Given the description of an element on the screen output the (x, y) to click on. 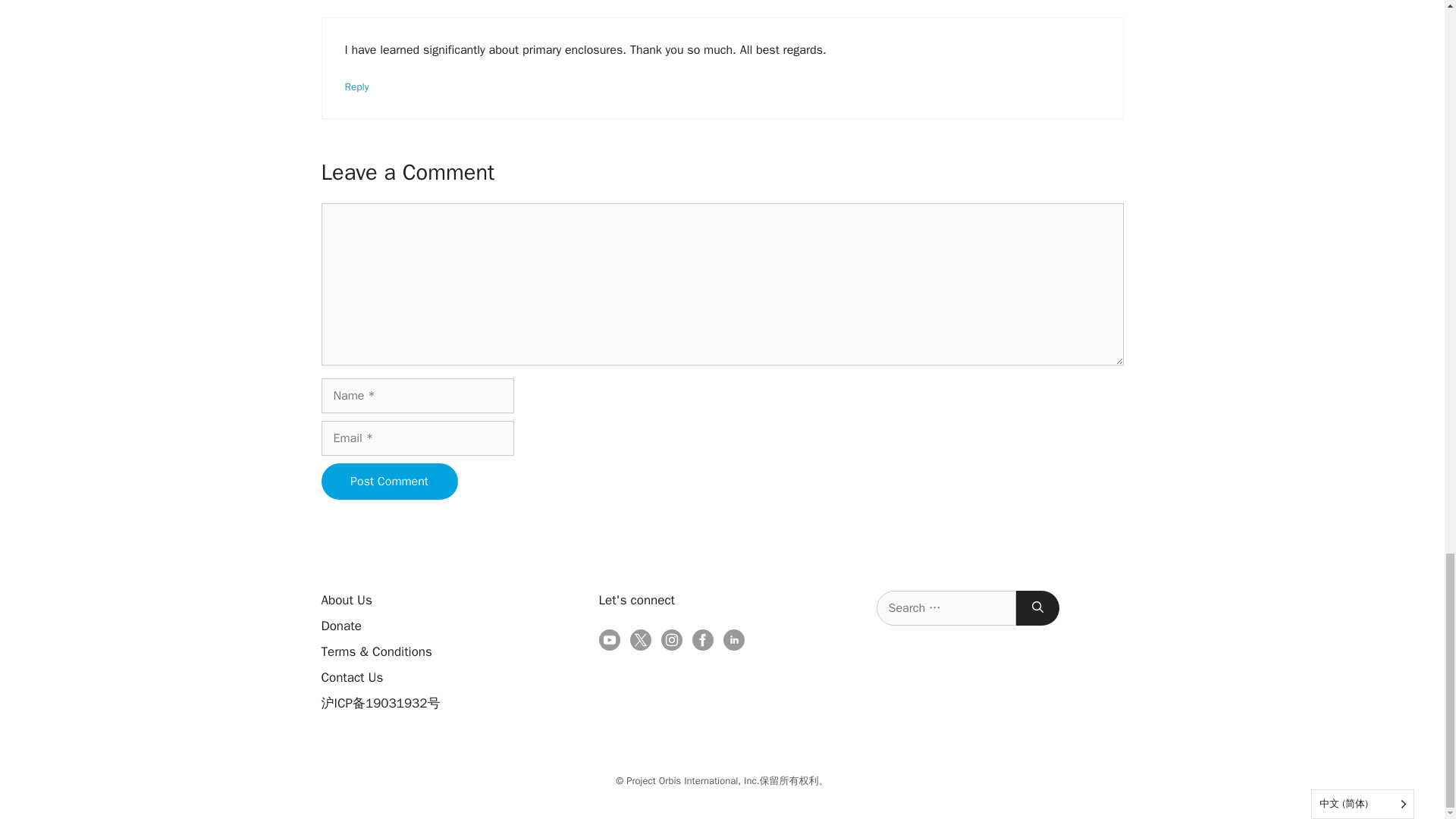
Post Comment (389, 481)
Search for: (946, 607)
About Us (346, 600)
Contact Us (352, 677)
Reply (355, 86)
Donate (341, 625)
Post Comment (389, 481)
